Given the description of an element on the screen output the (x, y) to click on. 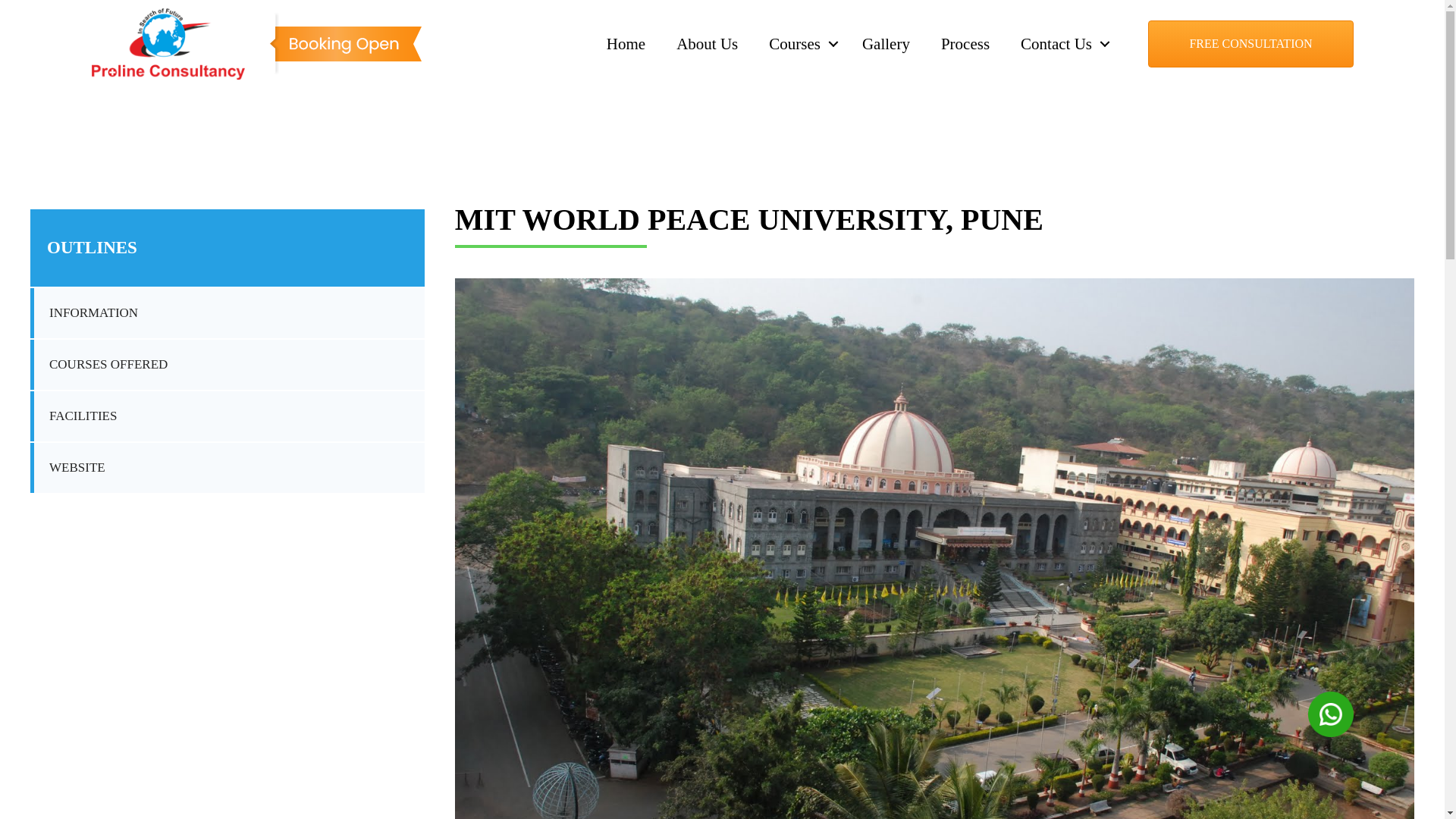
WEBSITE (67, 468)
COURSES OFFERED (98, 364)
COURSES OFFERED (98, 364)
FACILITIES (73, 416)
Contact Us (1062, 44)
About Us (706, 44)
INFORMATION (84, 313)
FACILITIES (73, 416)
Process (965, 44)
WEBSITE (67, 468)
INFORMATION (84, 313)
Home (626, 44)
FREE CONSULTATION (1251, 43)
Gallery (885, 44)
Courses (799, 44)
